Given the description of an element on the screen output the (x, y) to click on. 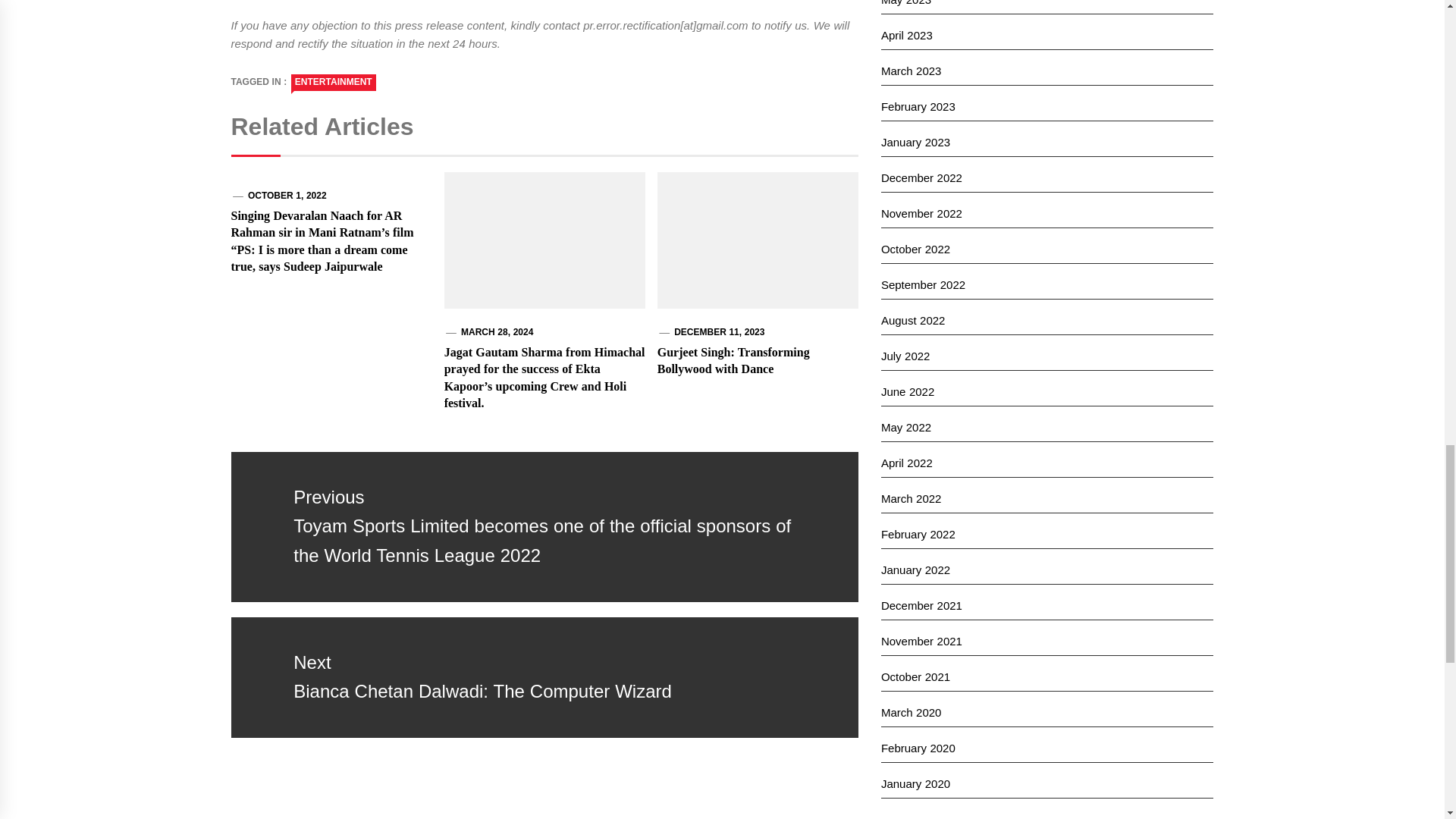
Gurjeet Singh: Transforming Bollywood with Dance (733, 360)
DECEMBER 11, 2023 (719, 331)
OCTOBER 1, 2022 (286, 195)
ENTERTAINMENT (333, 82)
MARCH 28, 2024 (496, 331)
